Given the description of an element on the screen output the (x, y) to click on. 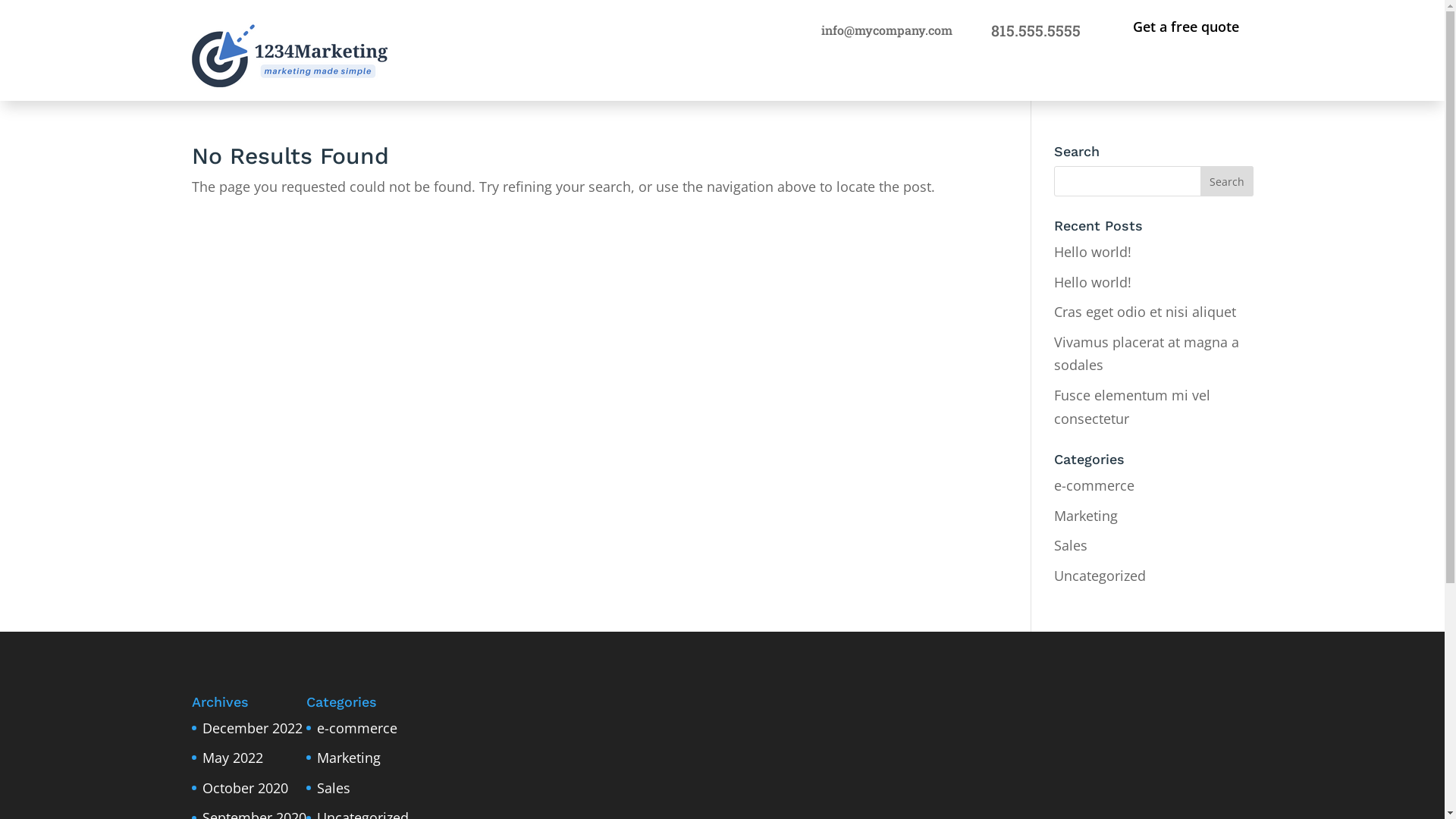
Sales Element type: text (333, 787)
logo Element type: hover (289, 55)
e-commerce Element type: text (1094, 485)
e-commerce Element type: text (356, 727)
Fusce elementum mi vel consectetur Element type: text (1132, 406)
Get a free quote Element type: text (1185, 26)
Cras eget odio et nisi aliquet Element type: text (1145, 311)
Sales Element type: text (1070, 545)
Hello world! Element type: text (1092, 251)
Marketing Element type: text (348, 757)
Search Element type: text (1225, 181)
Marketing Element type: text (1085, 515)
HOME Element type: text (1127, 76)
Vivamus placerat at magna a sodales Element type: text (1146, 353)
October 2020 Element type: text (244, 787)
Uncategorized Element type: text (1099, 575)
December 2022 Element type: text (251, 727)
PAGES Element type: text (1215, 76)
May 2022 Element type: text (231, 757)
Hello world! Element type: text (1092, 282)
